Given the description of an element on the screen output the (x, y) to click on. 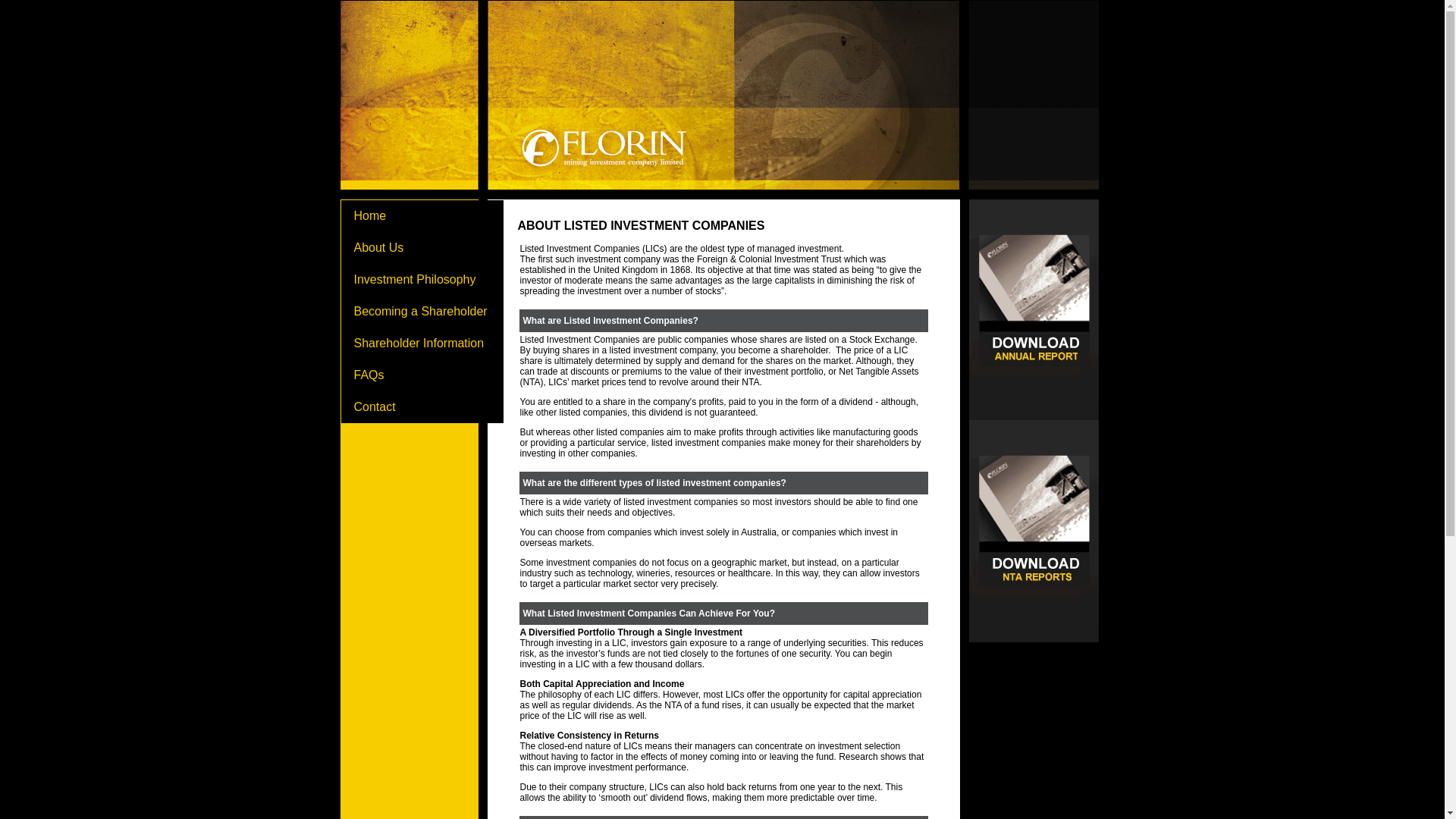
Shareholder Information Element type: text (422, 343)
Becoming a Shareholder Element type: text (422, 311)
FAQs Element type: text (422, 375)
Investment Philosophy Element type: text (422, 279)
Home Element type: text (422, 216)
Contact Element type: text (422, 407)
About Us Element type: text (422, 247)
